Given the description of an element on the screen output the (x, y) to click on. 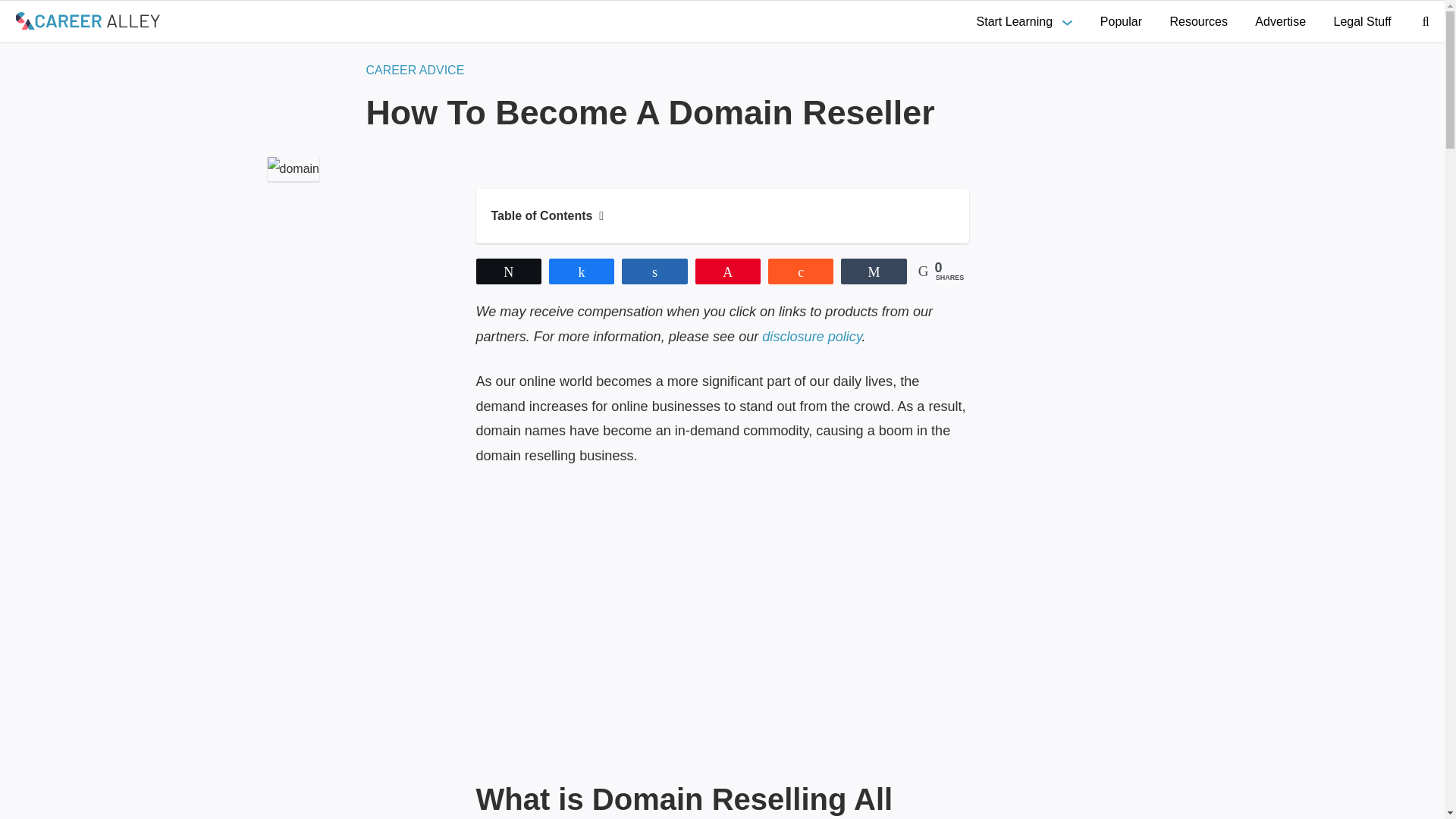
disclosure policy (811, 336)
Legal Stuff (1362, 21)
Advertise (1280, 21)
CAREER ADVICE (414, 69)
Resources (1198, 21)
Start Learning   (1025, 21)
Popular (1120, 21)
